Given the description of an element on the screen output the (x, y) to click on. 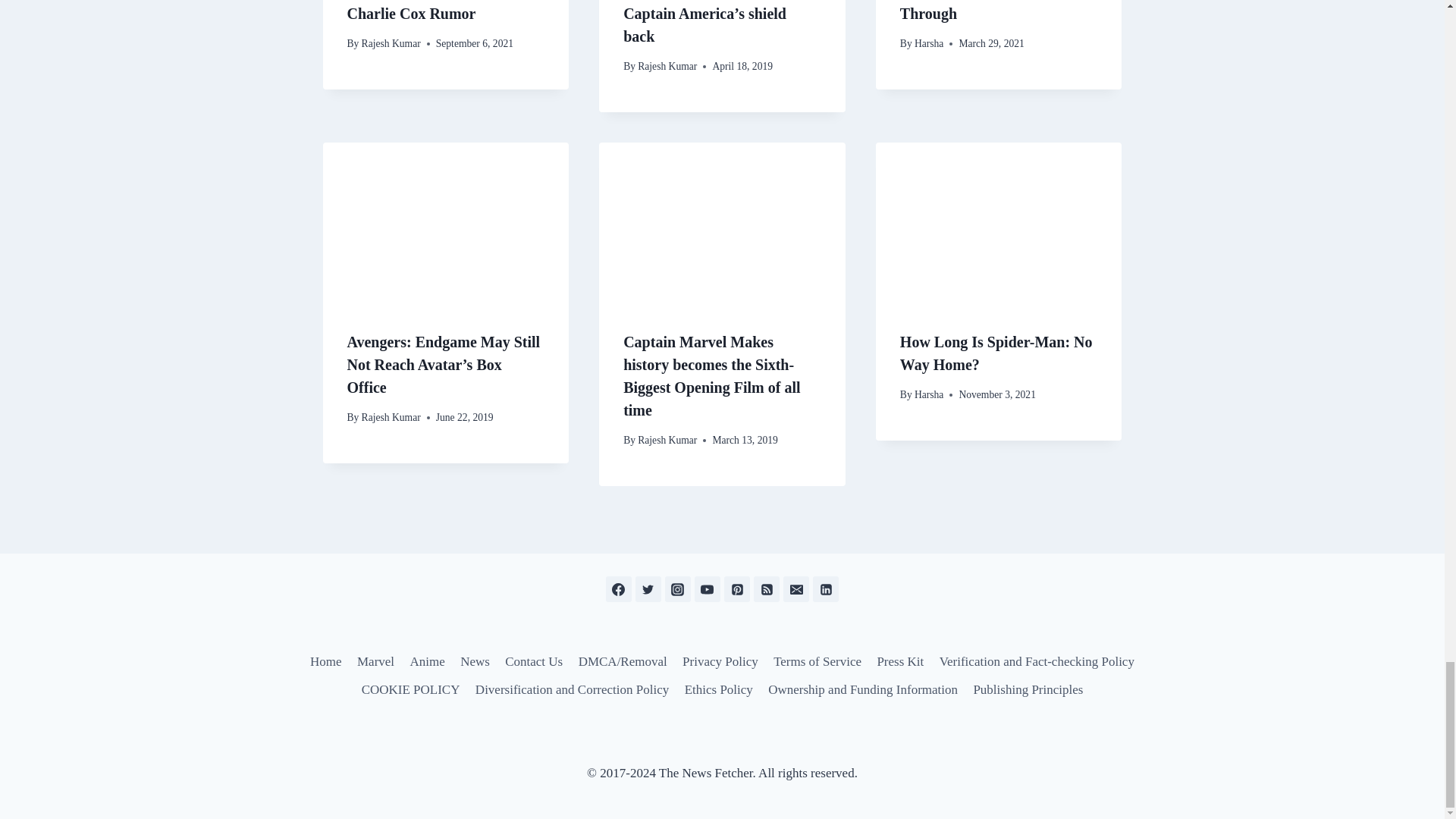
Rajesh Kumar (667, 66)
Rajesh Kumar (390, 43)
